Given the description of an element on the screen output the (x, y) to click on. 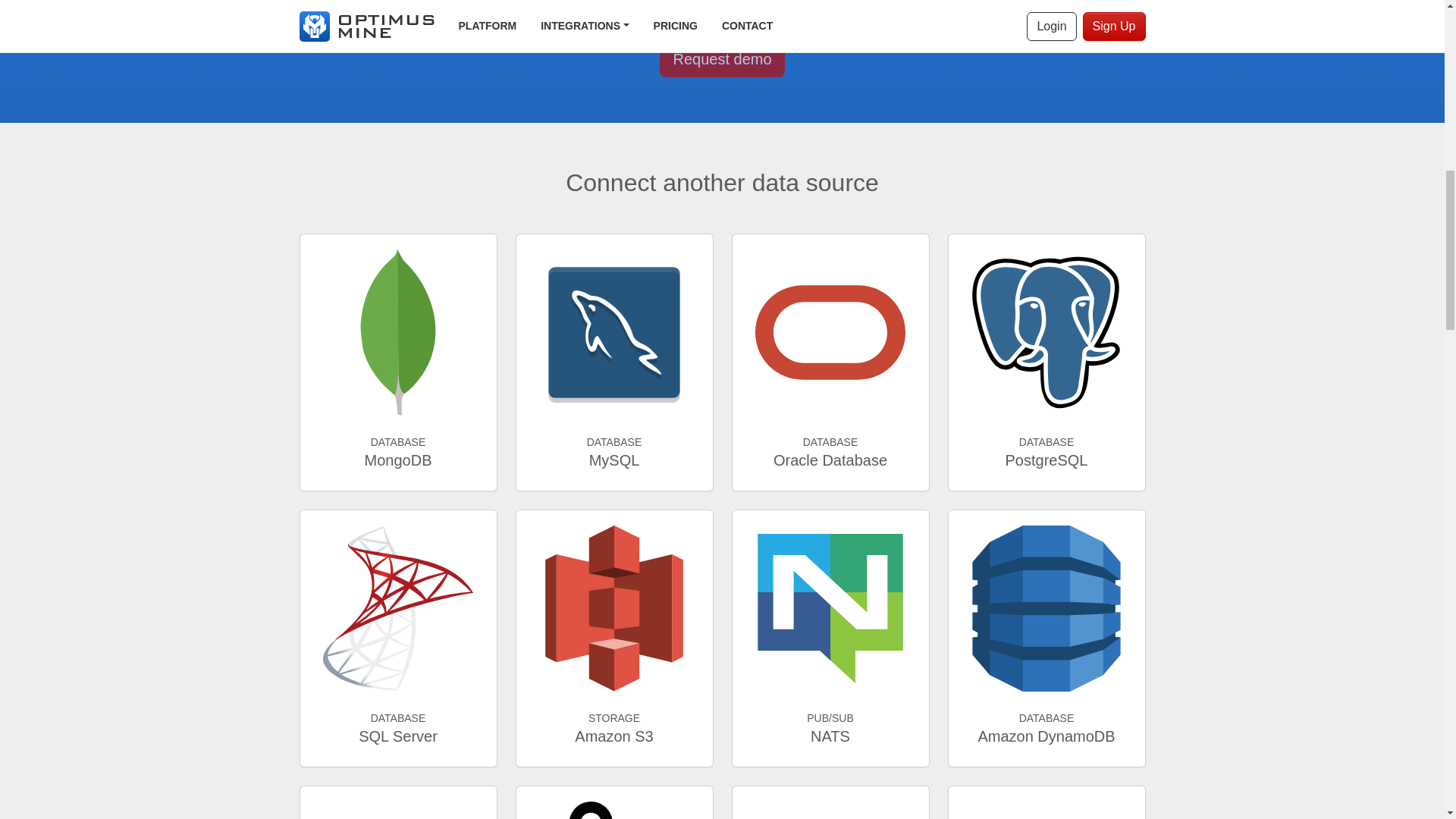
Request demo (397, 802)
